Given the description of an element on the screen output the (x, y) to click on. 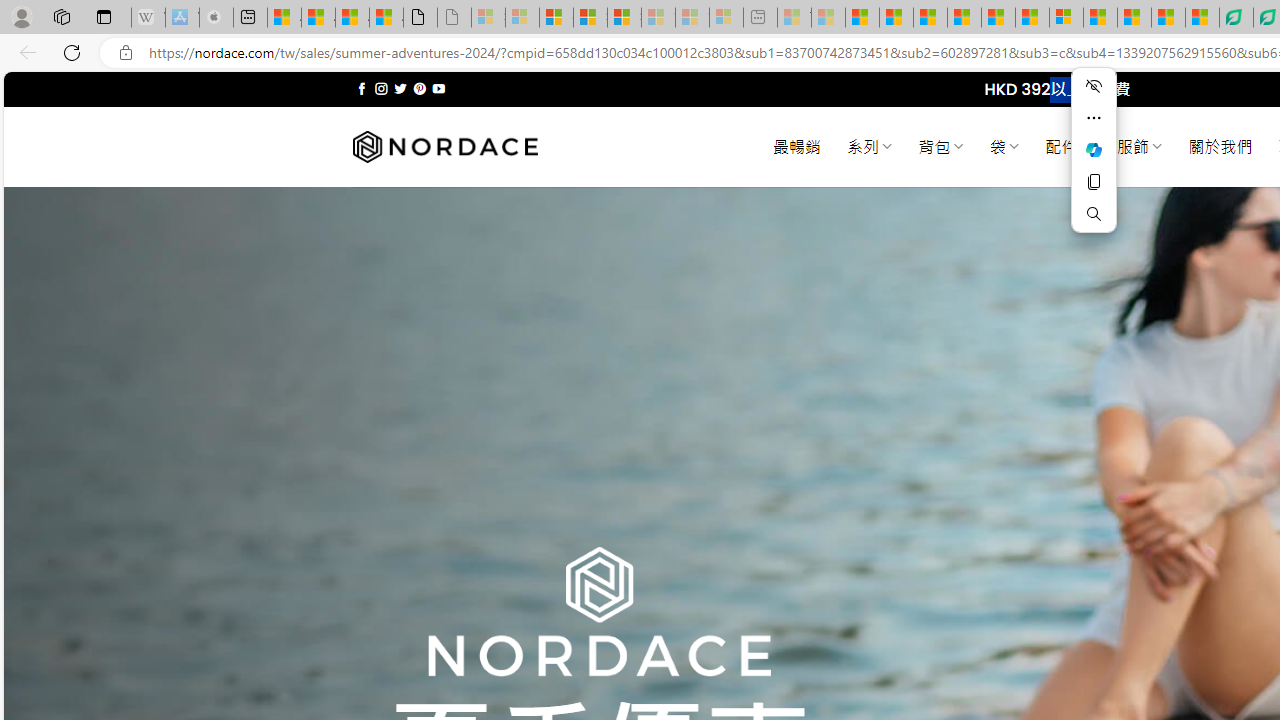
Marine life - MSN - Sleeping (827, 17)
US Heat Deaths Soared To Record High Last Year (1100, 17)
Wikipedia - Sleeping (148, 17)
Sign in to your Microsoft account - Sleeping (488, 17)
Nordace (444, 147)
Copy (1094, 182)
